Given the description of an element on the screen output the (x, y) to click on. 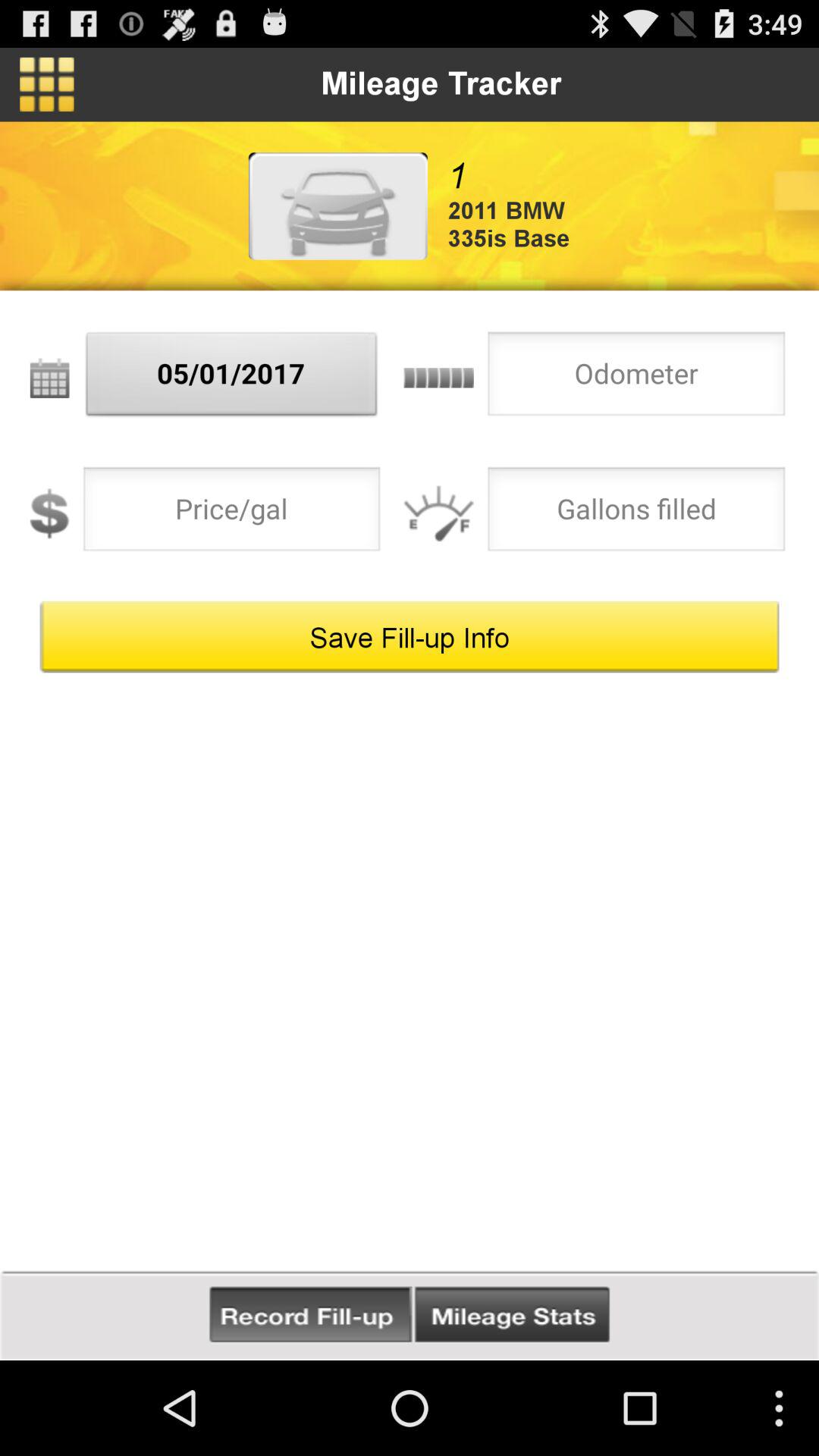
open 05/01/2017 item (231, 377)
